Given the description of an element on the screen output the (x, y) to click on. 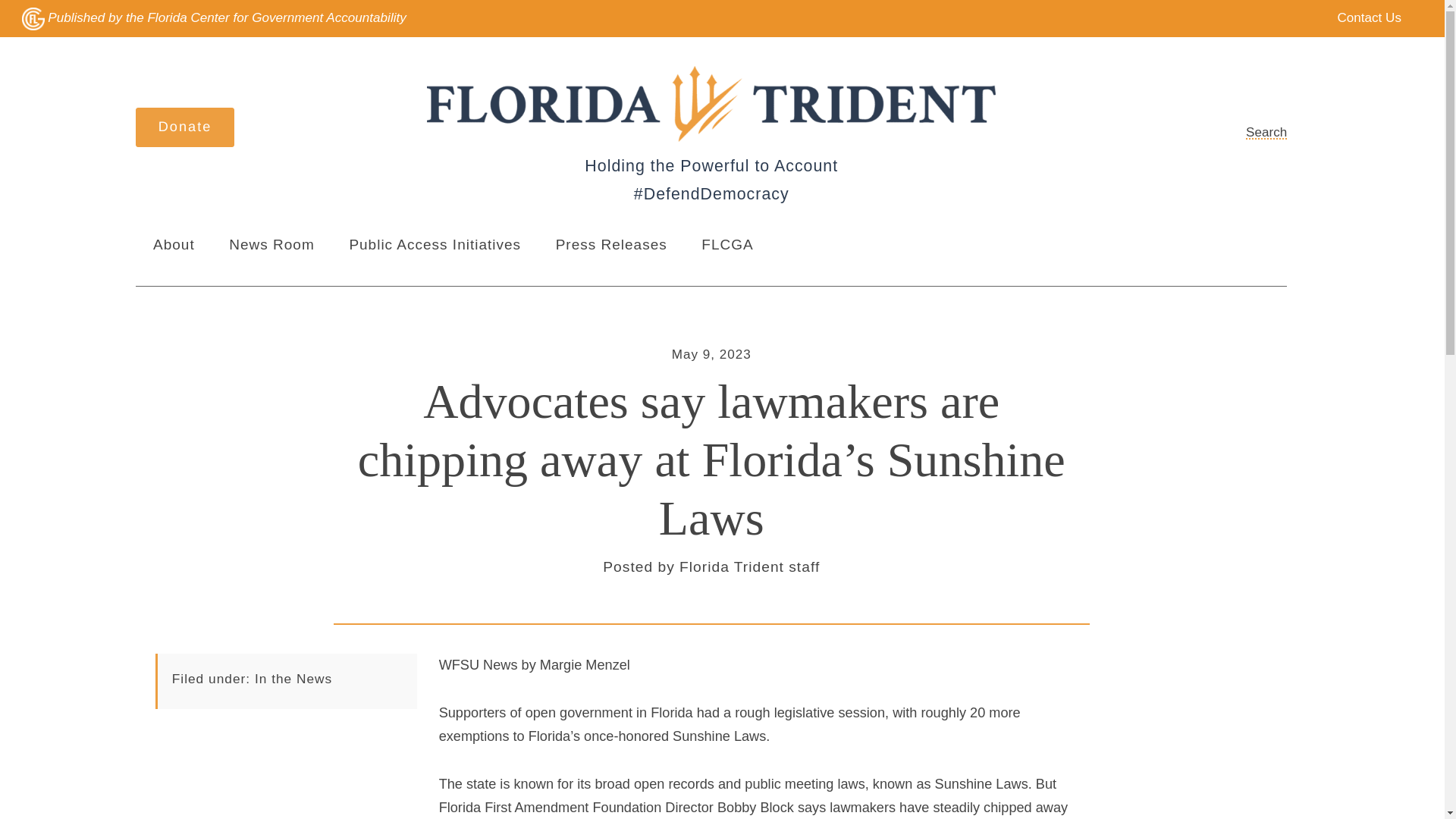
Public Access Initiatives (435, 244)
In the News (292, 678)
Donate (184, 127)
Press Releases (611, 244)
Search (1255, 132)
Contact Us (1358, 17)
About (173, 244)
FLCGA (726, 244)
News Room (271, 244)
